Given the description of an element on the screen output the (x, y) to click on. 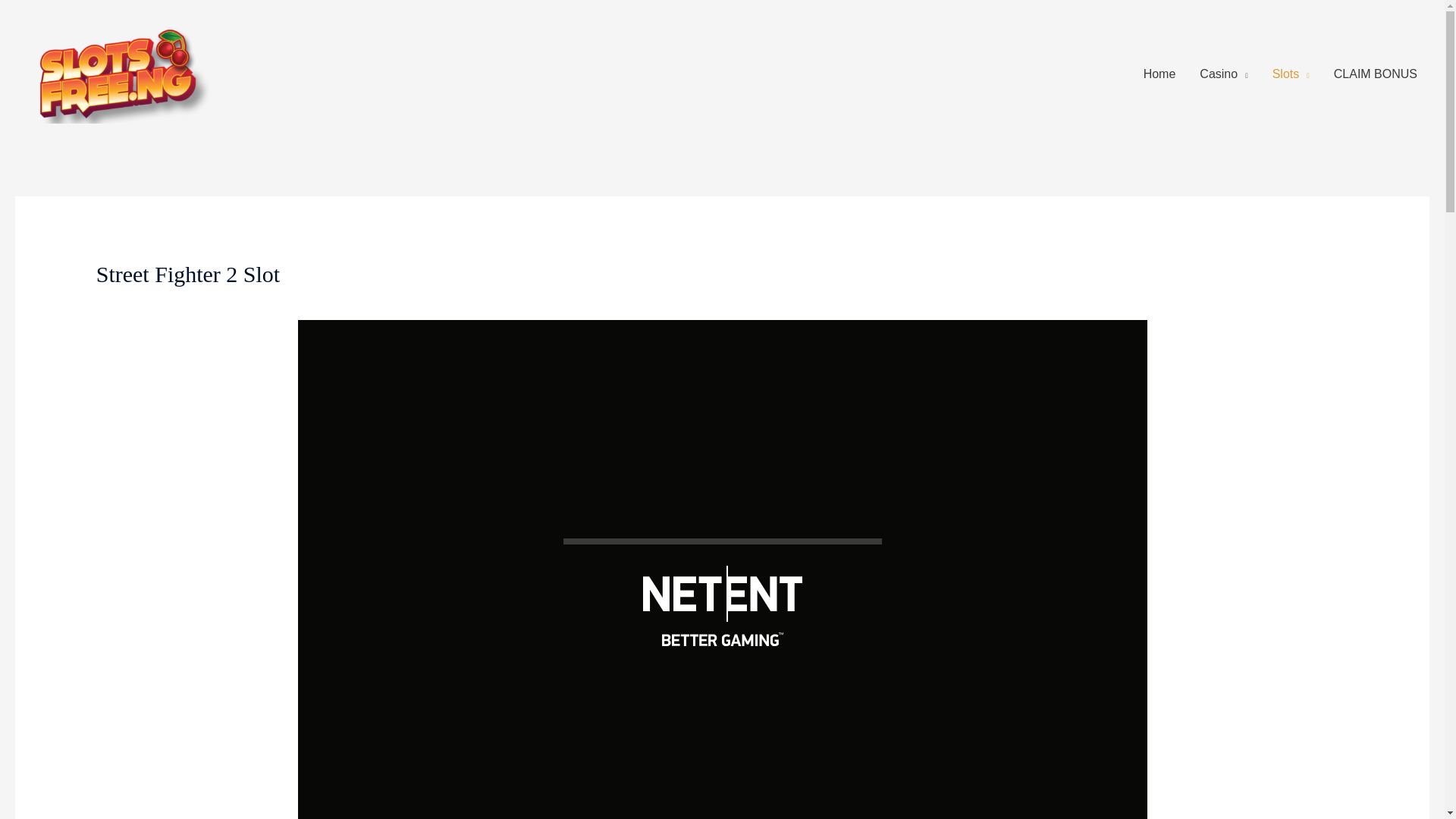
Casino (1223, 73)
Home (1159, 73)
Slots (1291, 73)
CLAIM BONUS (1375, 73)
